Given the description of an element on the screen output the (x, y) to click on. 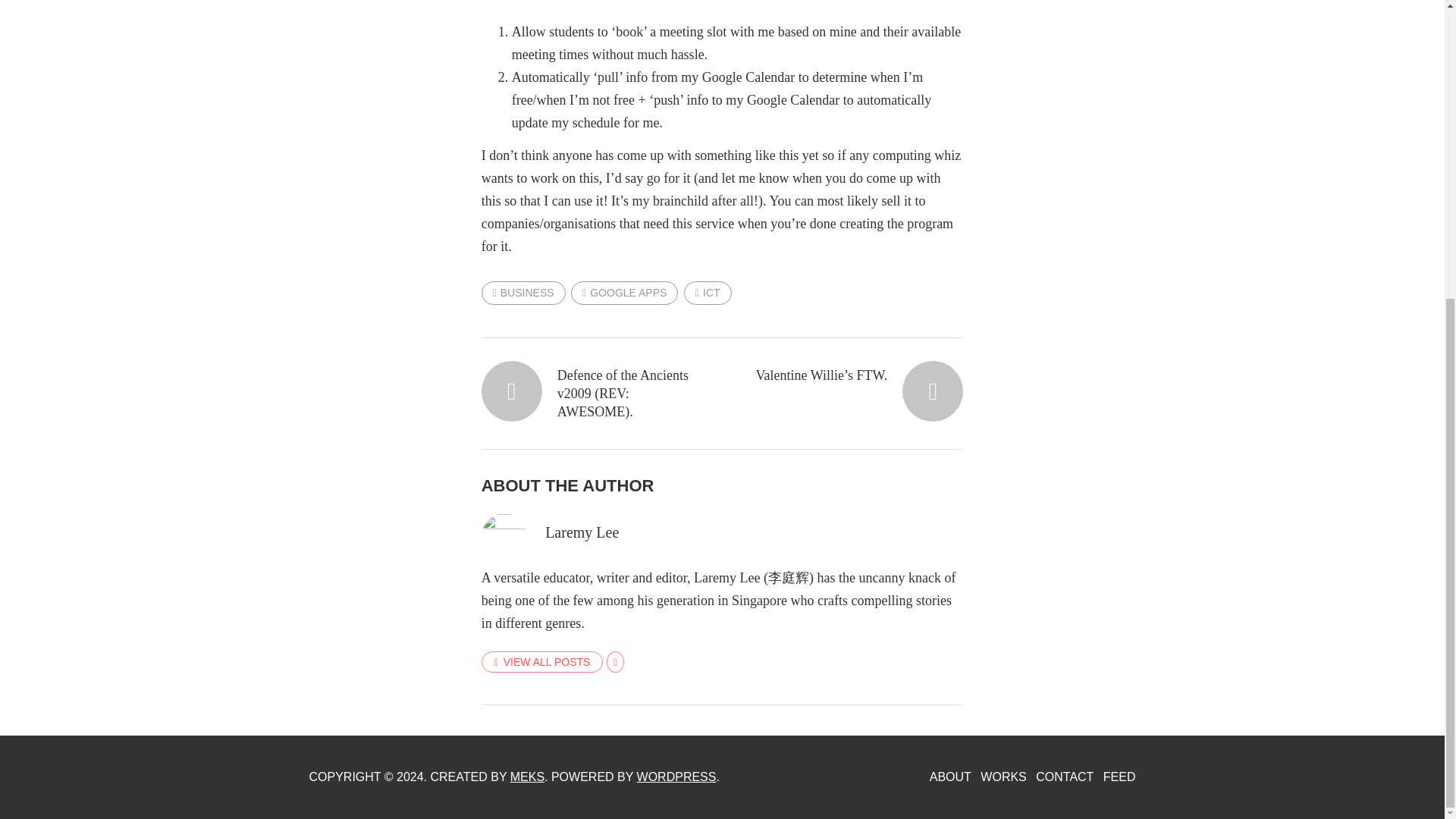
FEED (1119, 776)
WORKS (1002, 776)
VIEW ALL POSTS (542, 660)
WORDPRESS (676, 776)
MEKS (527, 776)
ABOUT (950, 776)
CONTACT (1064, 776)
ICT (708, 291)
BUSINESS (523, 291)
GOOGLE APPS (624, 291)
